Given the description of an element on the screen output the (x, y) to click on. 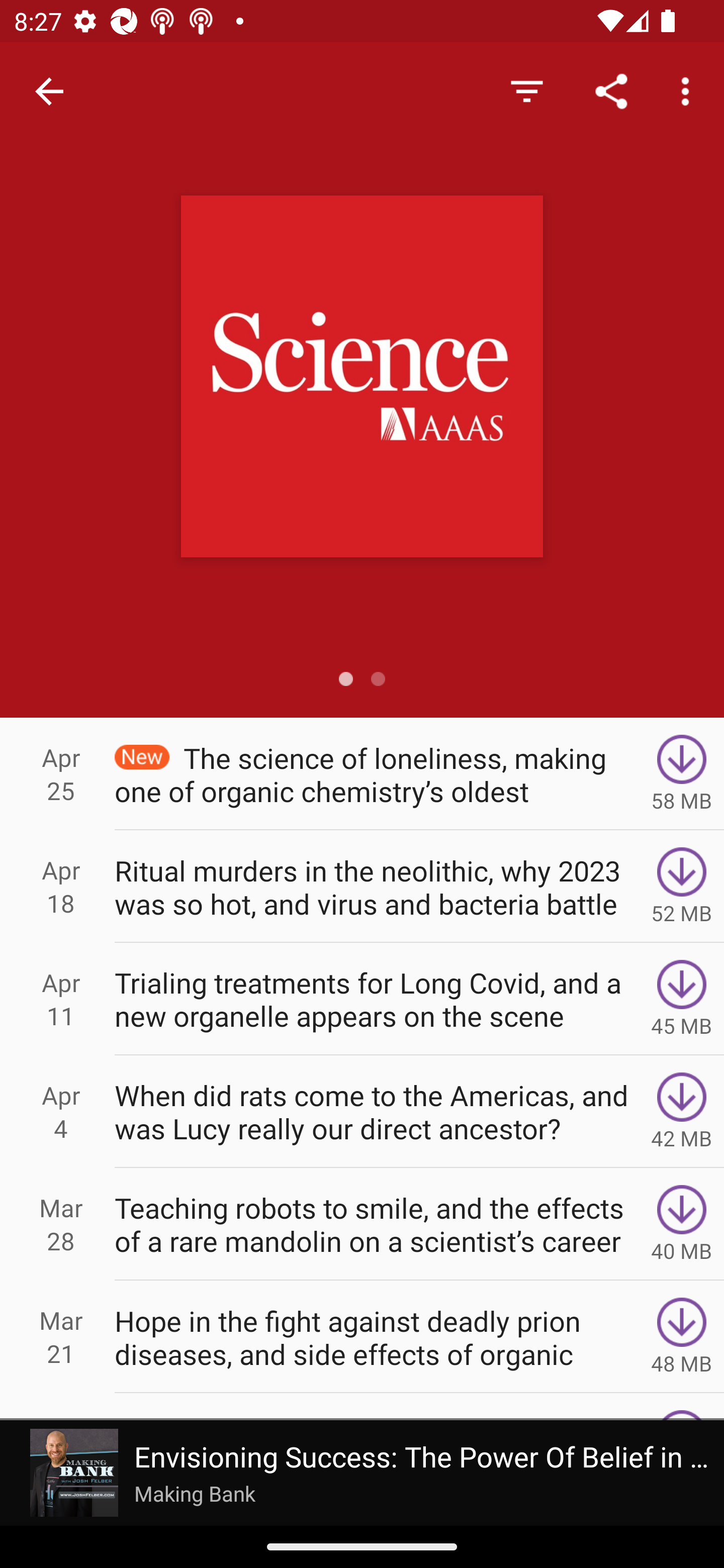
Navigate up (49, 91)
Hide Episodes (526, 90)
Share Link (611, 90)
More options (688, 90)
Download 58 MB (681, 773)
Download 52 MB (681, 885)
Download 45 MB (681, 998)
Download 42 MB (681, 1111)
Download 40 MB (681, 1224)
Download 48 MB (681, 1336)
